Given the description of an element on the screen output the (x, y) to click on. 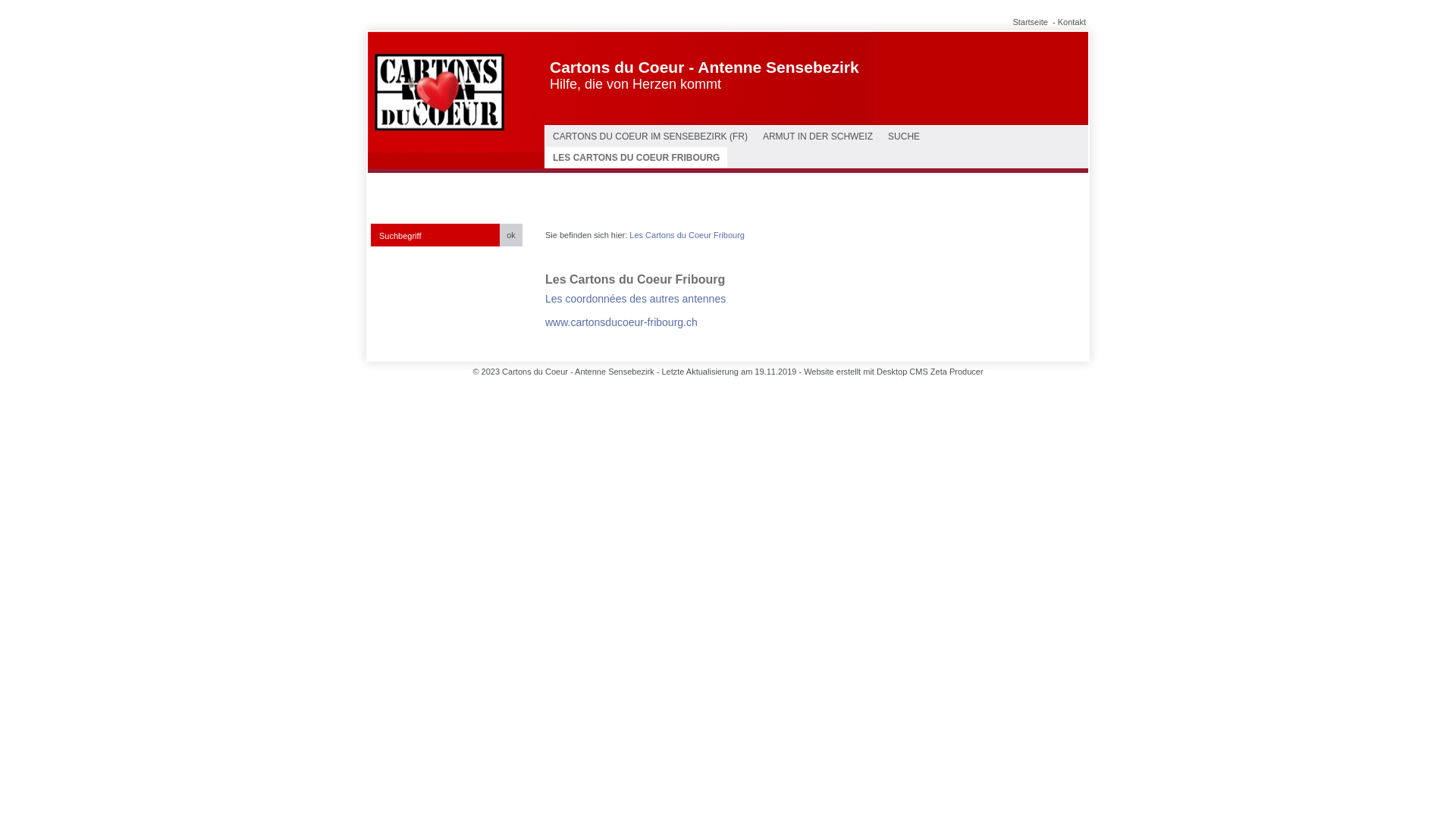
www.cartonsducoeur-fribourg.ch Element type: text (621, 322)
CARTONS DU COEUR IM SENSEBEZIRK (FR) Element type: text (650, 136)
ARMUT IN DER SCHWEIZ Element type: text (817, 136)
Les Cartons du Coeur Fribourg Element type: text (686, 234)
SUCHE Element type: text (903, 136)
Kontakt Element type: text (1071, 21)
Startseite Element type: text (1029, 21)
LES CARTONS DU COEUR FRIBOURG Element type: text (636, 157)
ok Element type: text (510, 234)
Website erstellt mit Desktop CMS Zeta Producer Element type: text (892, 371)
